Given the description of an element on the screen output the (x, y) to click on. 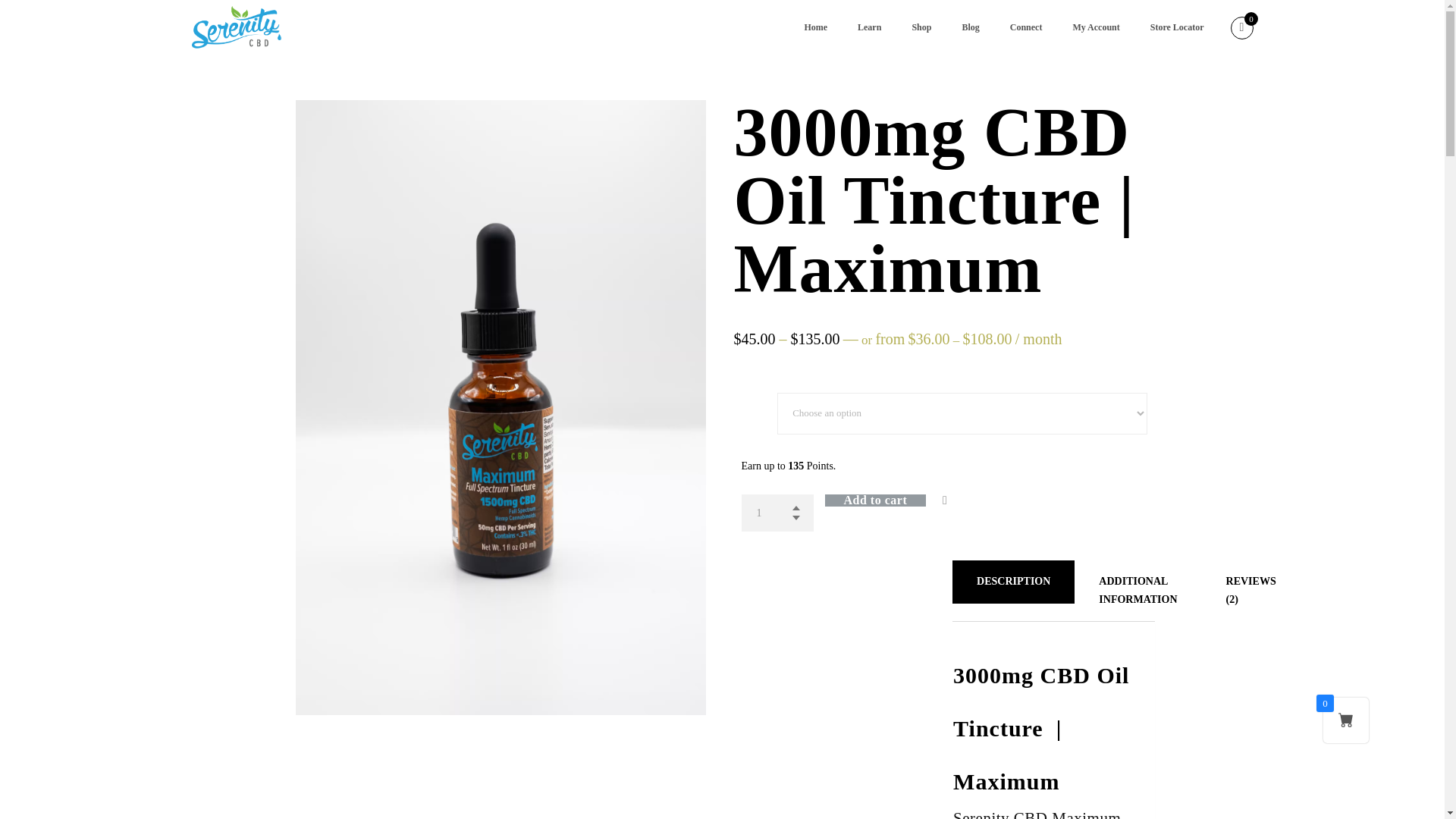
DESCRIPTION (1013, 581)
1 (777, 512)
Serinity logo (235, 26)
Learn (869, 27)
Qty (777, 512)
Home (816, 27)
Blog (970, 27)
Shop (921, 27)
Store Locator (1177, 27)
Connect (1026, 27)
DESCRIPTION (1013, 581)
My Account (1095, 27)
Add to cart (894, 500)
ADDITIONAL INFORMATION (1137, 590)
